Given the description of an element on the screen output the (x, y) to click on. 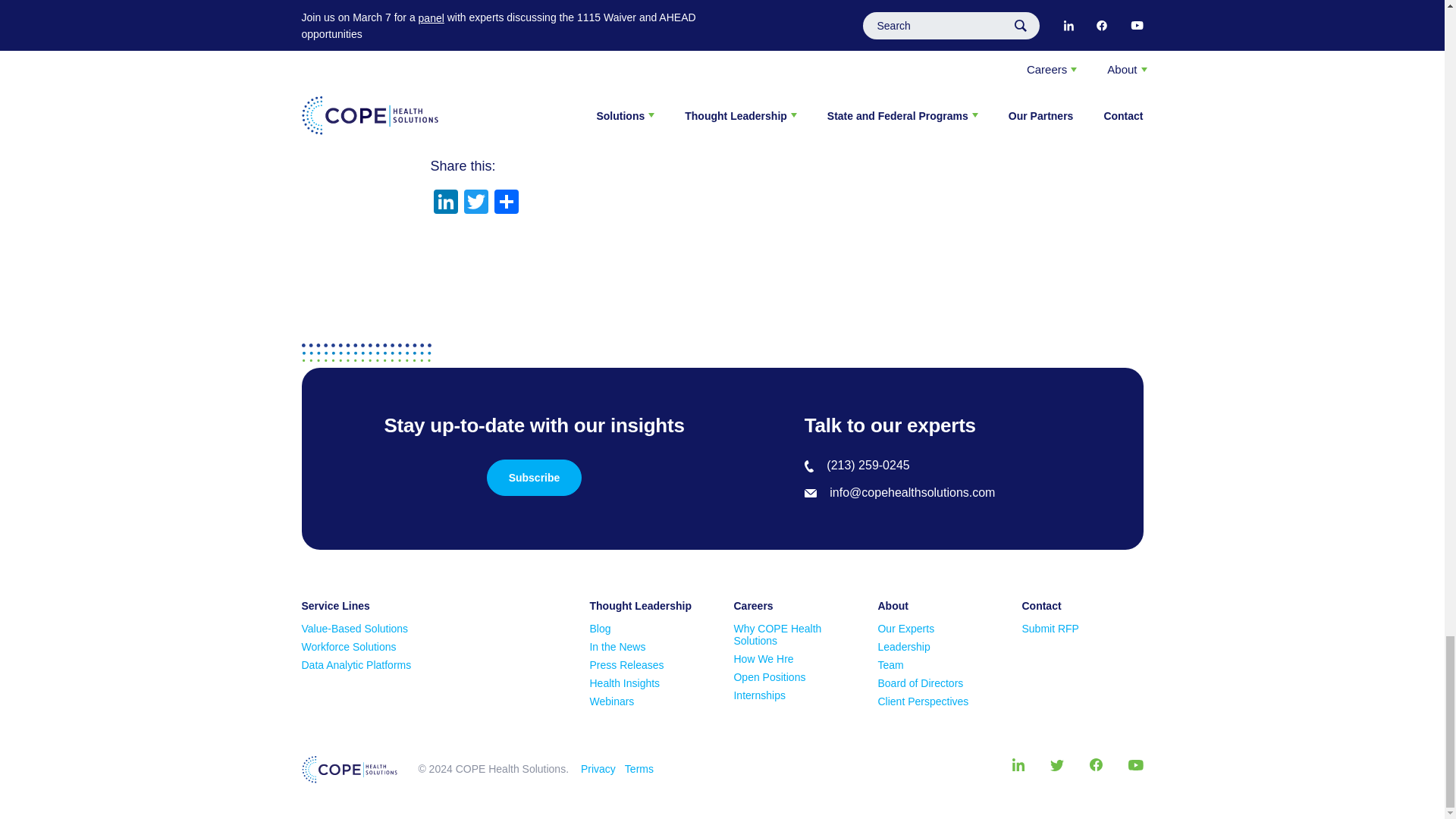
LinkedIn (445, 203)
Twitter (476, 203)
